Given the description of an element on the screen output the (x, y) to click on. 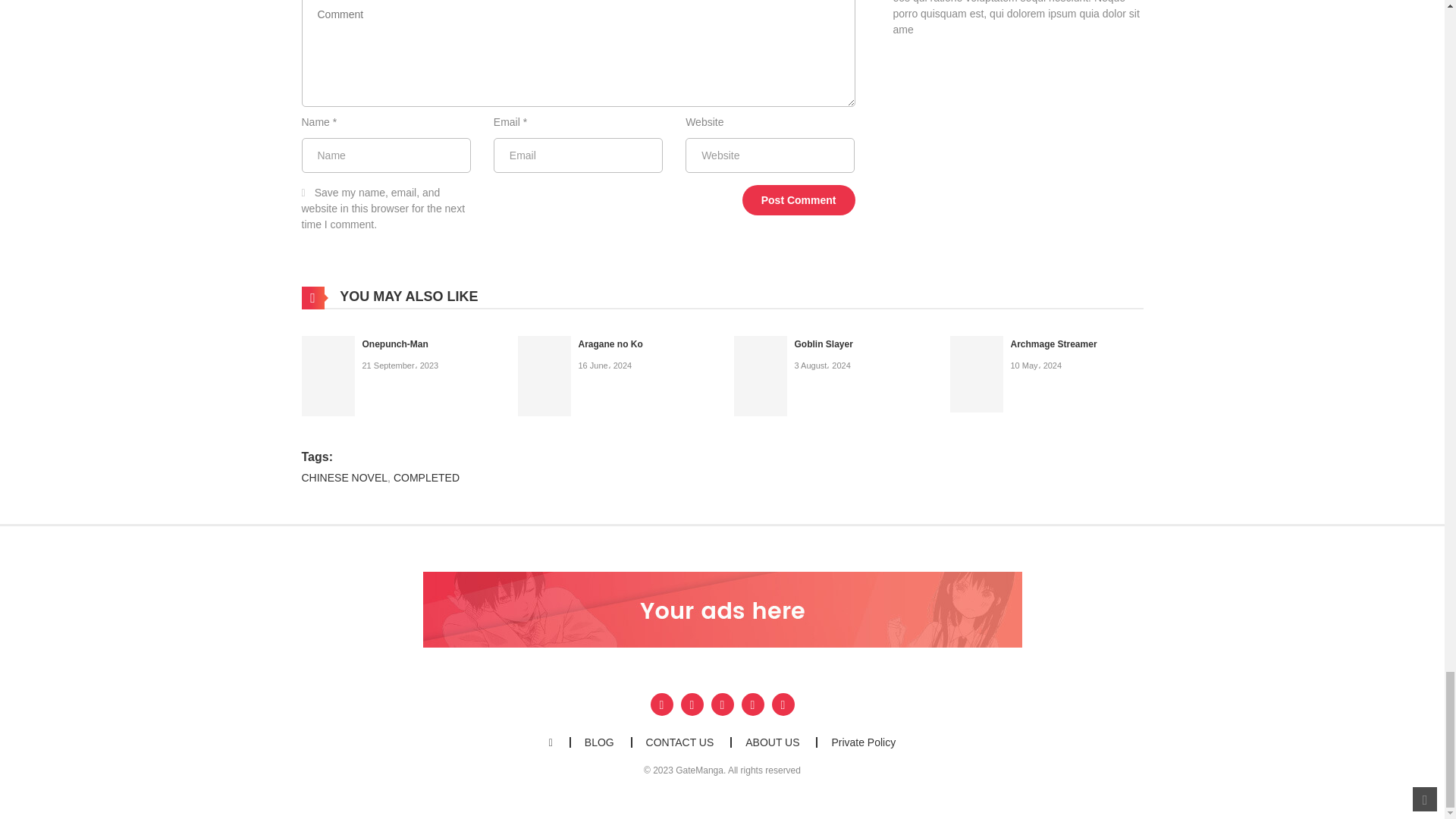
Onepunch-Man (328, 375)
Goblin Slayer (760, 375)
Archmage Streamer (976, 372)
Aragane no Ko (610, 344)
Aragane no Ko (543, 375)
Onepunch-Man (395, 344)
Post Comment (799, 200)
Goblin Slayer (823, 344)
